Given the description of an element on the screen output the (x, y) to click on. 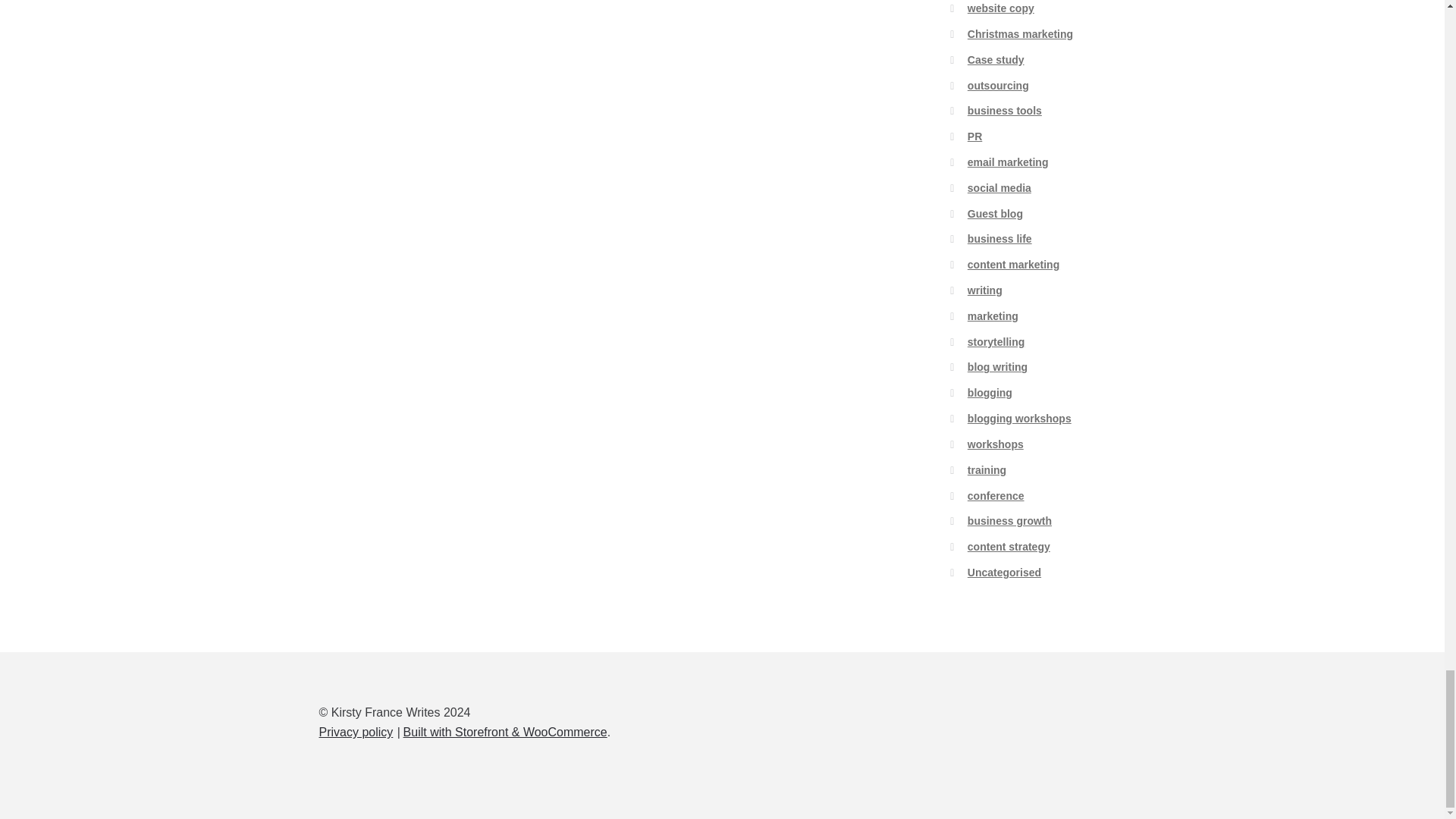
WooCommerce - The Best eCommerce Platform for WordPress (505, 731)
